Given the description of an element on the screen output the (x, y) to click on. 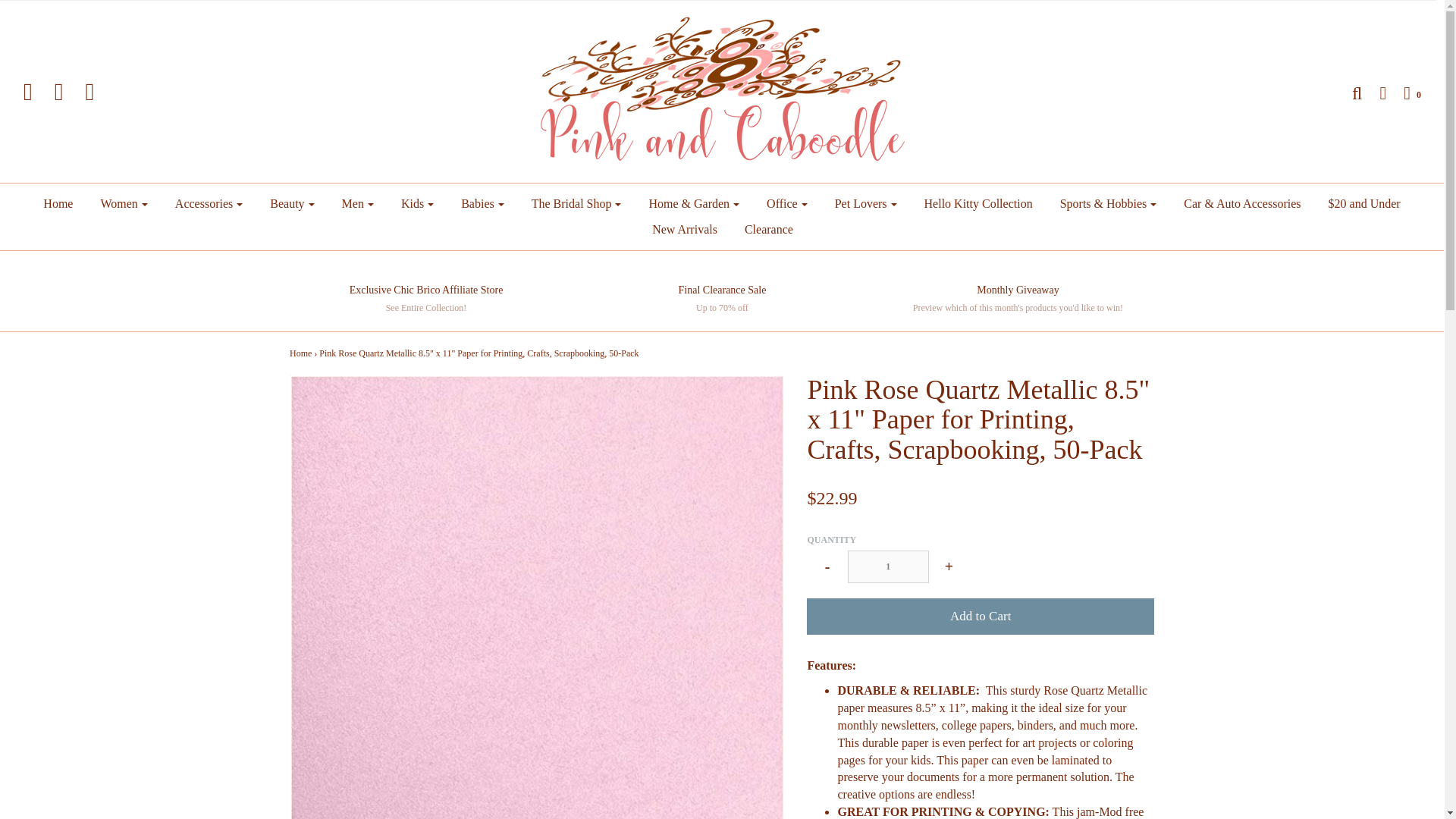
0 (1405, 92)
Accessories (208, 203)
Home (58, 203)
Log in (1375, 92)
Back to the Home Page (300, 353)
1 (887, 566)
Search (1348, 92)
Women (123, 203)
Your Cart (1405, 92)
